Given the description of an element on the screen output the (x, y) to click on. 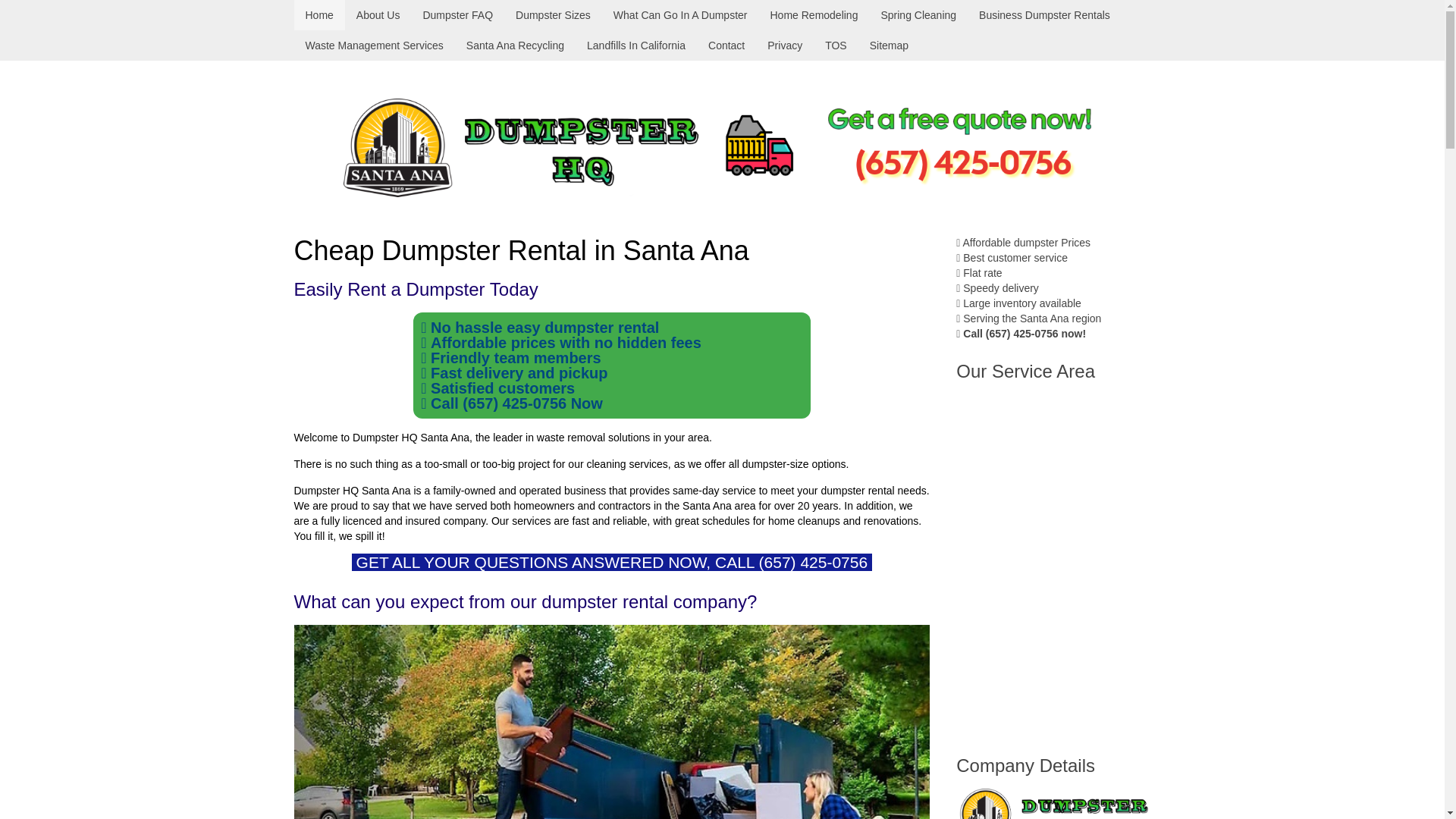
Spring Cleaning (918, 15)
Dumpster FAQ (456, 15)
Home (319, 15)
Dumpster Sizes (552, 15)
What Can Go In A Dumpster (680, 15)
Santa Ana Recycling (514, 45)
Dumpster FAQ (456, 15)
Spring Cleaning (918, 15)
Home (319, 15)
What Can Go In A Dumpster (680, 15)
Home Remodeling (813, 15)
Sitemap (889, 45)
Home Remodeling (813, 15)
Contact (726, 45)
Privacy (784, 45)
